Given the description of an element on the screen output the (x, y) to click on. 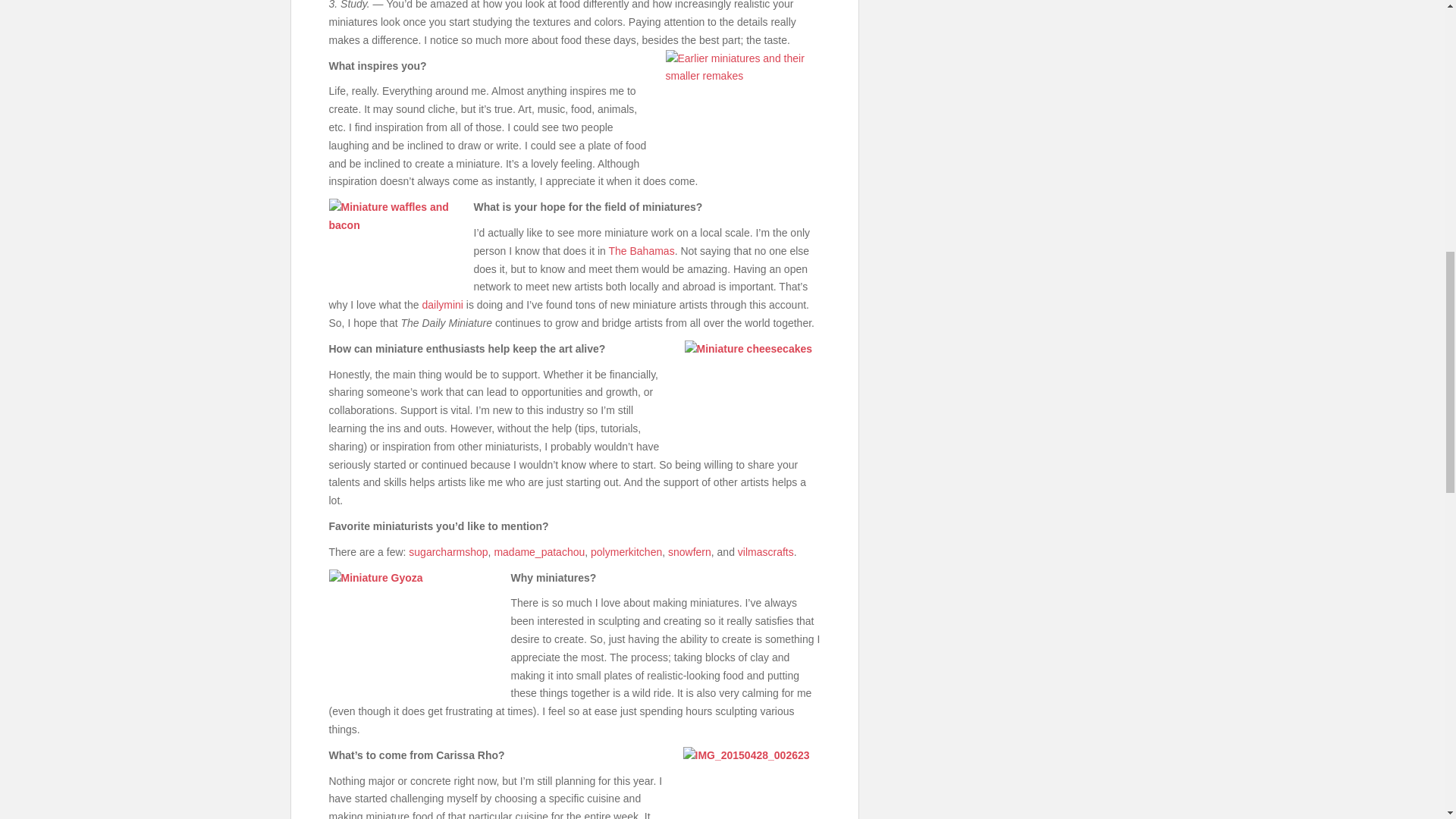
polymerkitchen (626, 551)
sugarcharmshop (448, 551)
vilmascrafts (765, 551)
snowfern (689, 551)
The Bahamas (641, 250)
dailymini (442, 304)
